Given the description of an element on the screen output the (x, y) to click on. 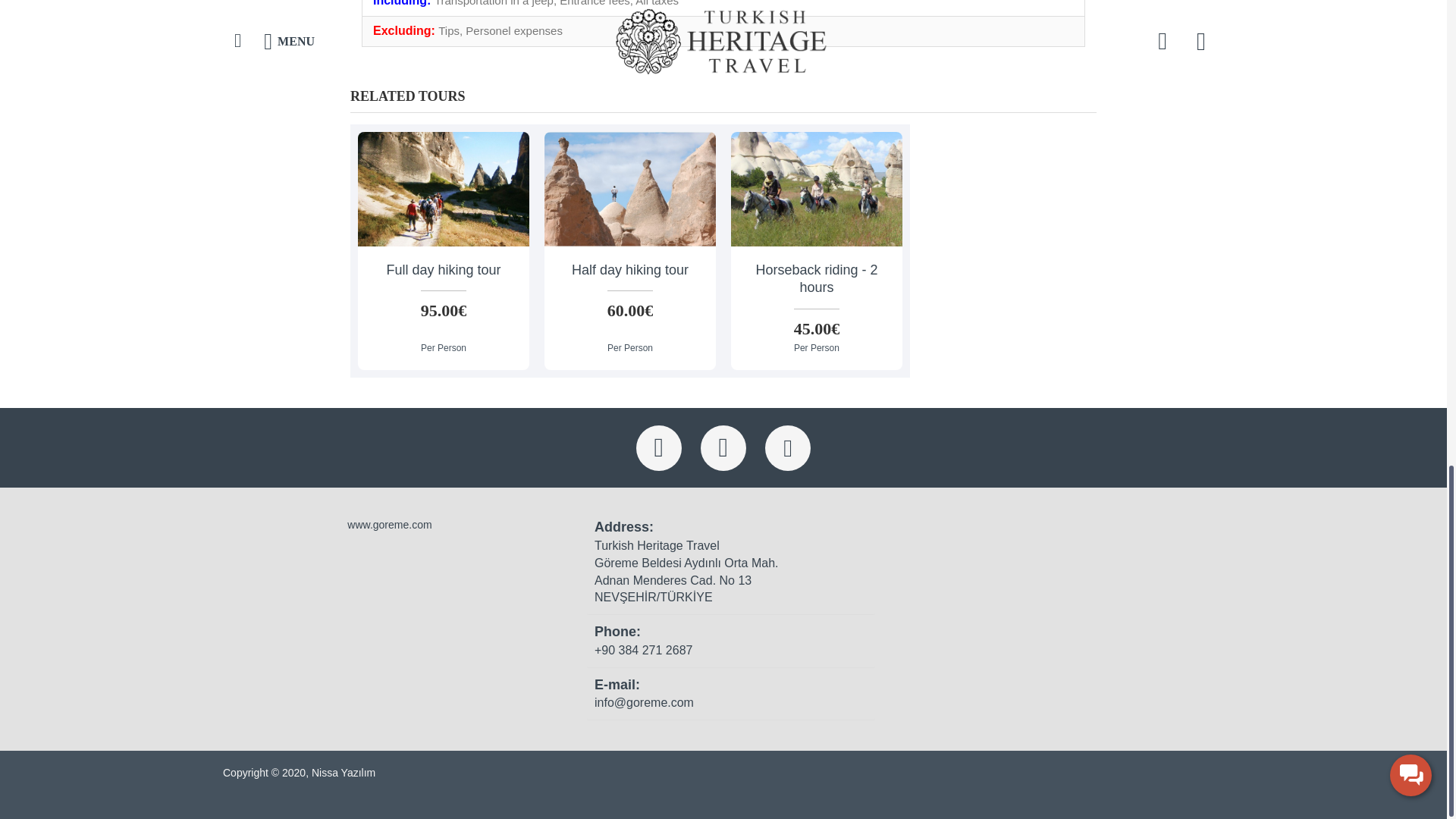
Horseback riding - 2 hours (816, 188)
Half day hiking tour (630, 188)
Full day hiking tour (443, 188)
